Given the description of an element on the screen output the (x, y) to click on. 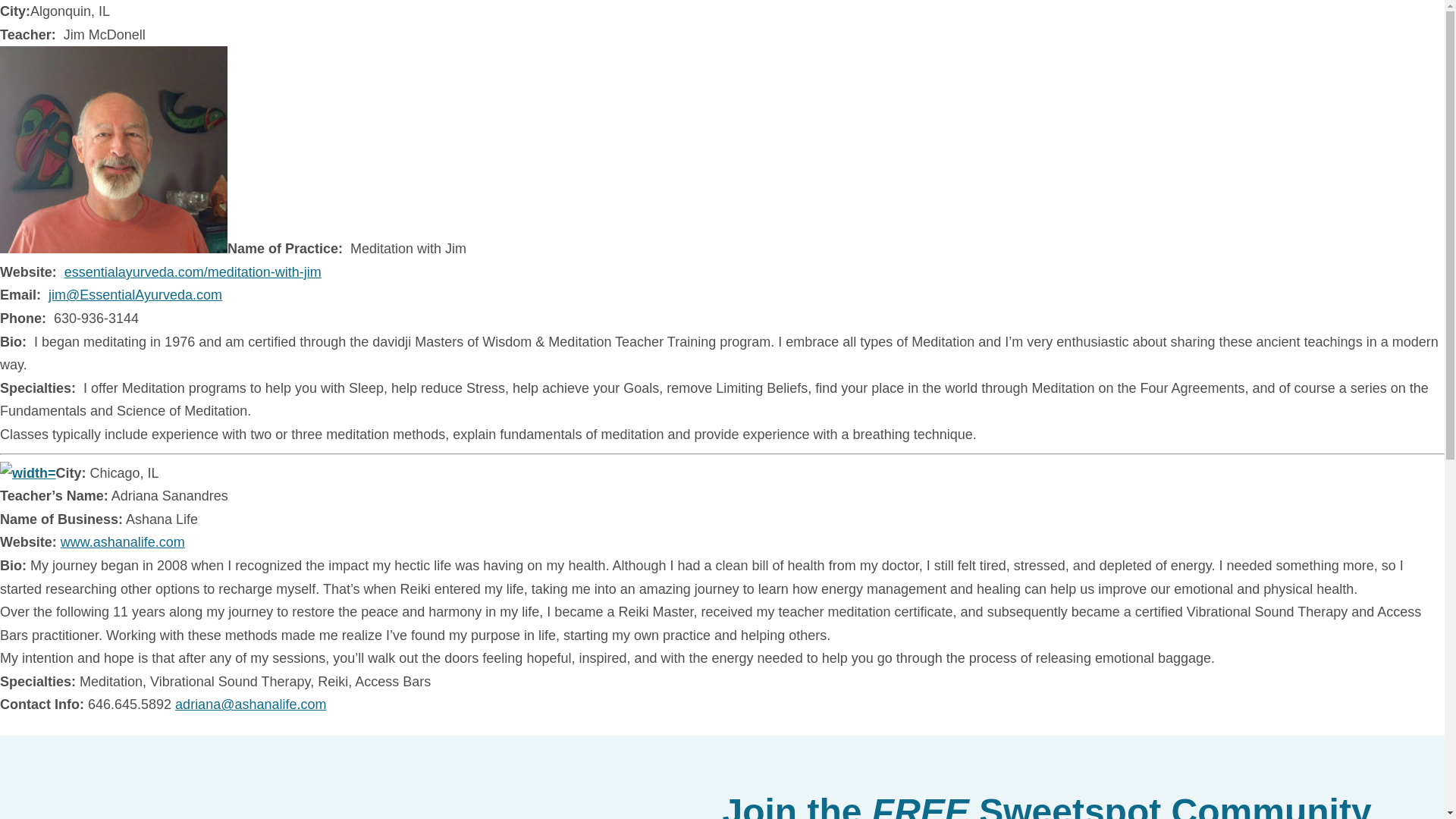
www.ashanalife.com (122, 541)
